Given the description of an element on the screen output the (x, y) to click on. 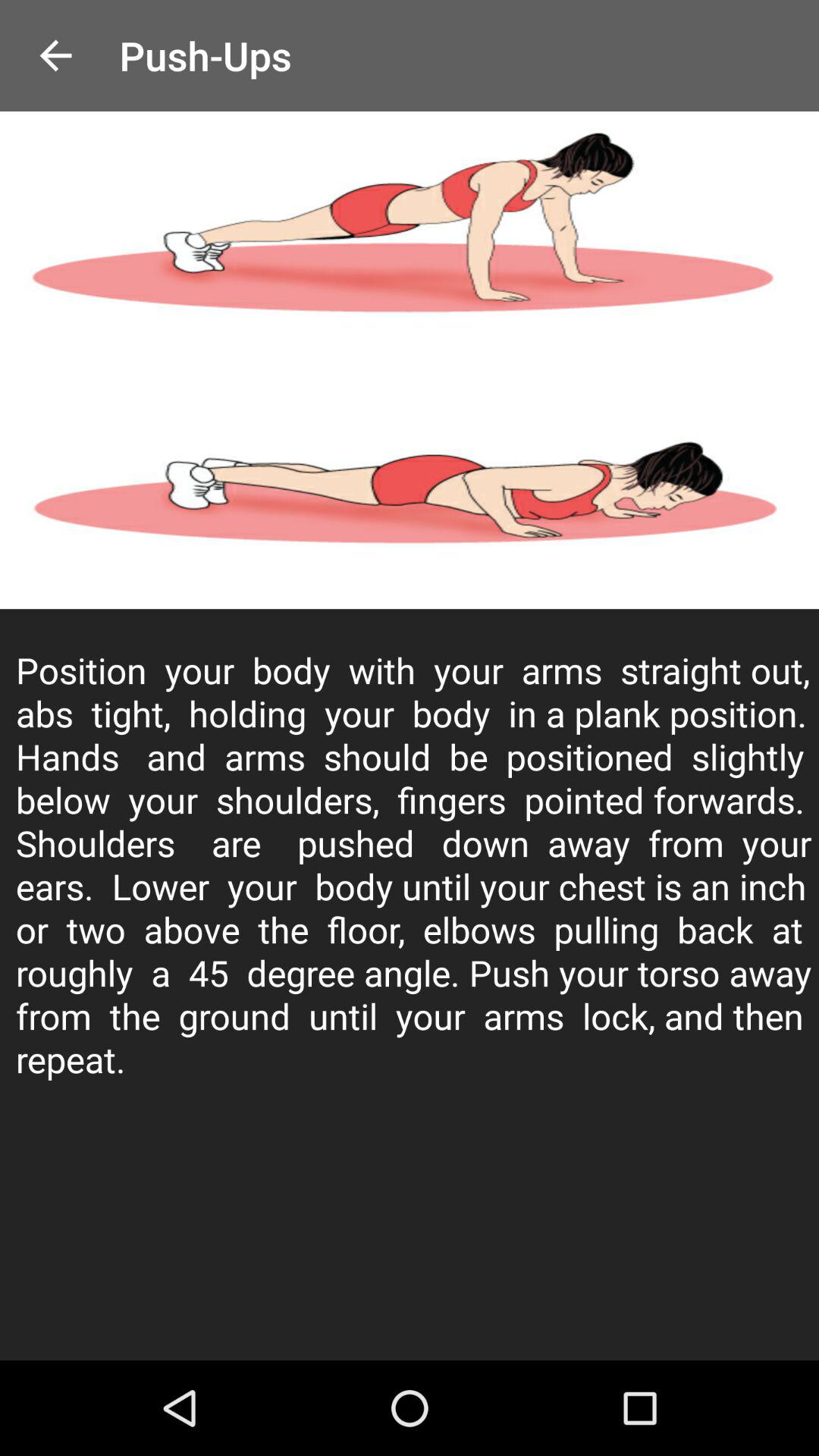
choose the icon to the left of push-ups item (55, 55)
